Given the description of an element on the screen output the (x, y) to click on. 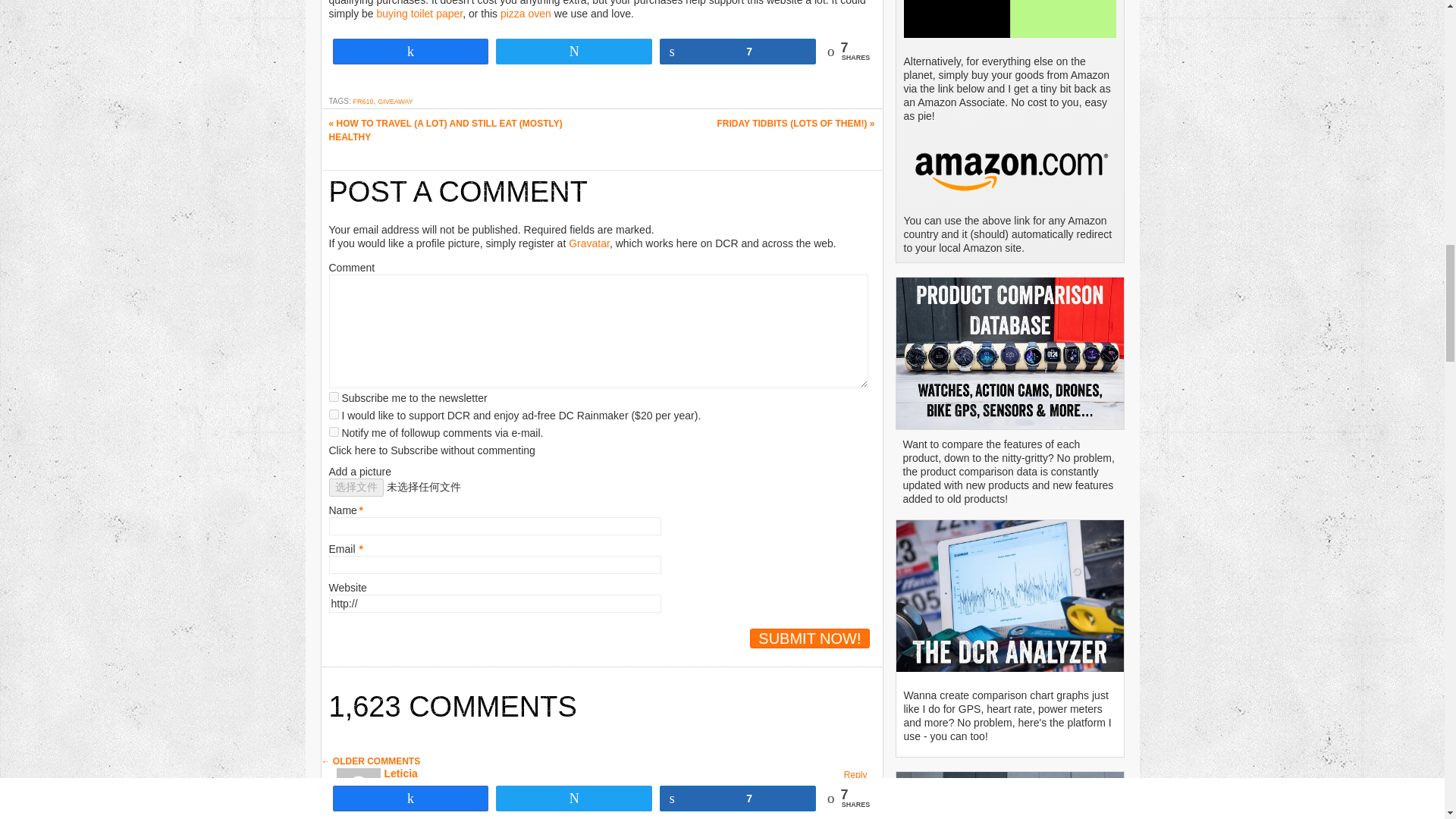
Submit Now! (809, 638)
on (334, 397)
on (334, 414)
DC Rainmaker YouTube Channel (1010, 795)
1 (334, 431)
